Given the description of an element on the screen output the (x, y) to click on. 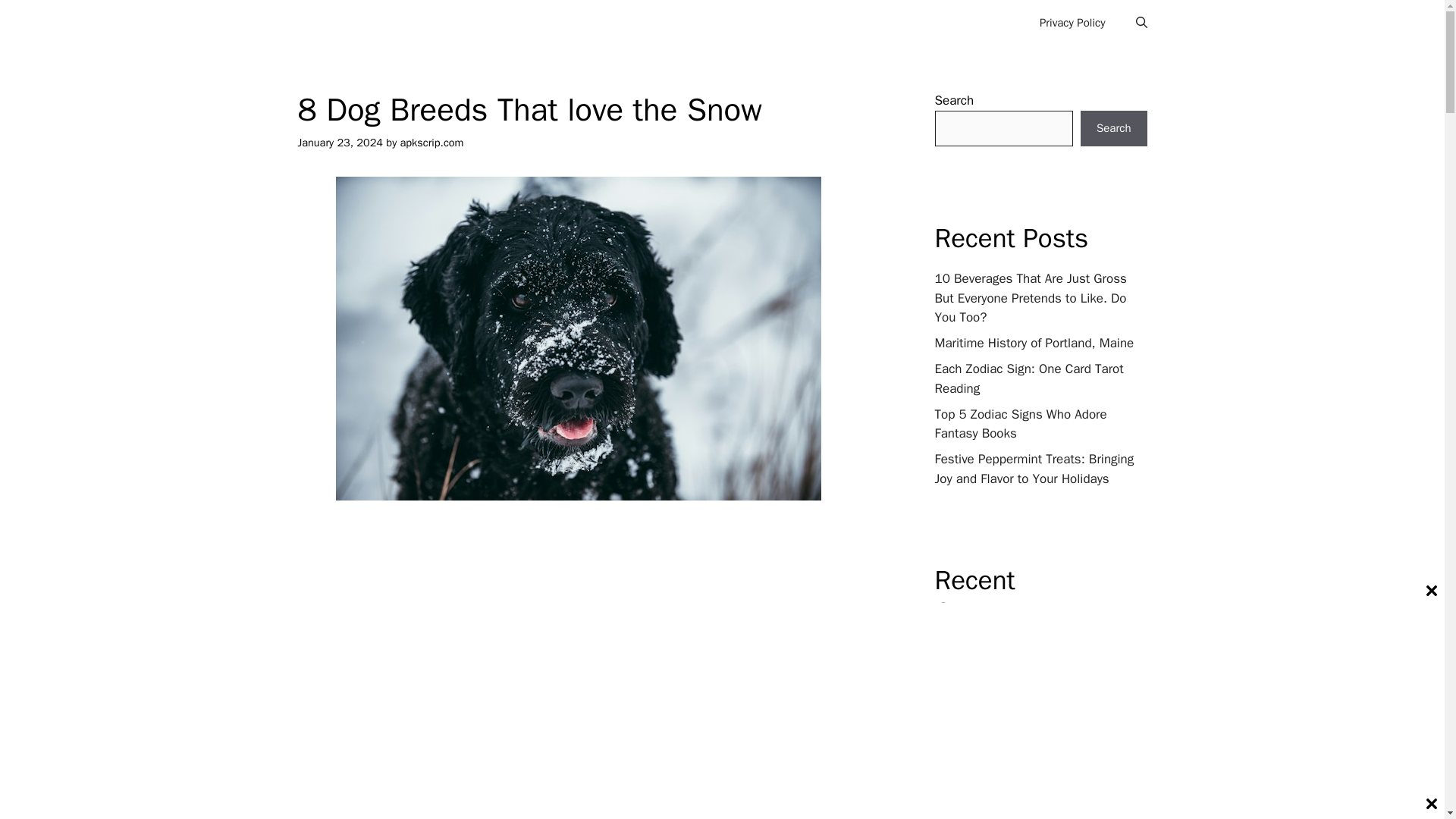
View all posts by apkscrip.com (432, 142)
Advertisement (585, 632)
Each Zodiac Sign: One Card Tarot Reading (1028, 378)
Top 5 Zodiac Signs Who Adore Fantasy Books (1020, 424)
Advertisement (585, 786)
apkscrip.com (432, 142)
Privacy Policy (1073, 22)
Search (1113, 128)
Maritime History of Portland, Maine (1034, 342)
